Given the description of an element on the screen output the (x, y) to click on. 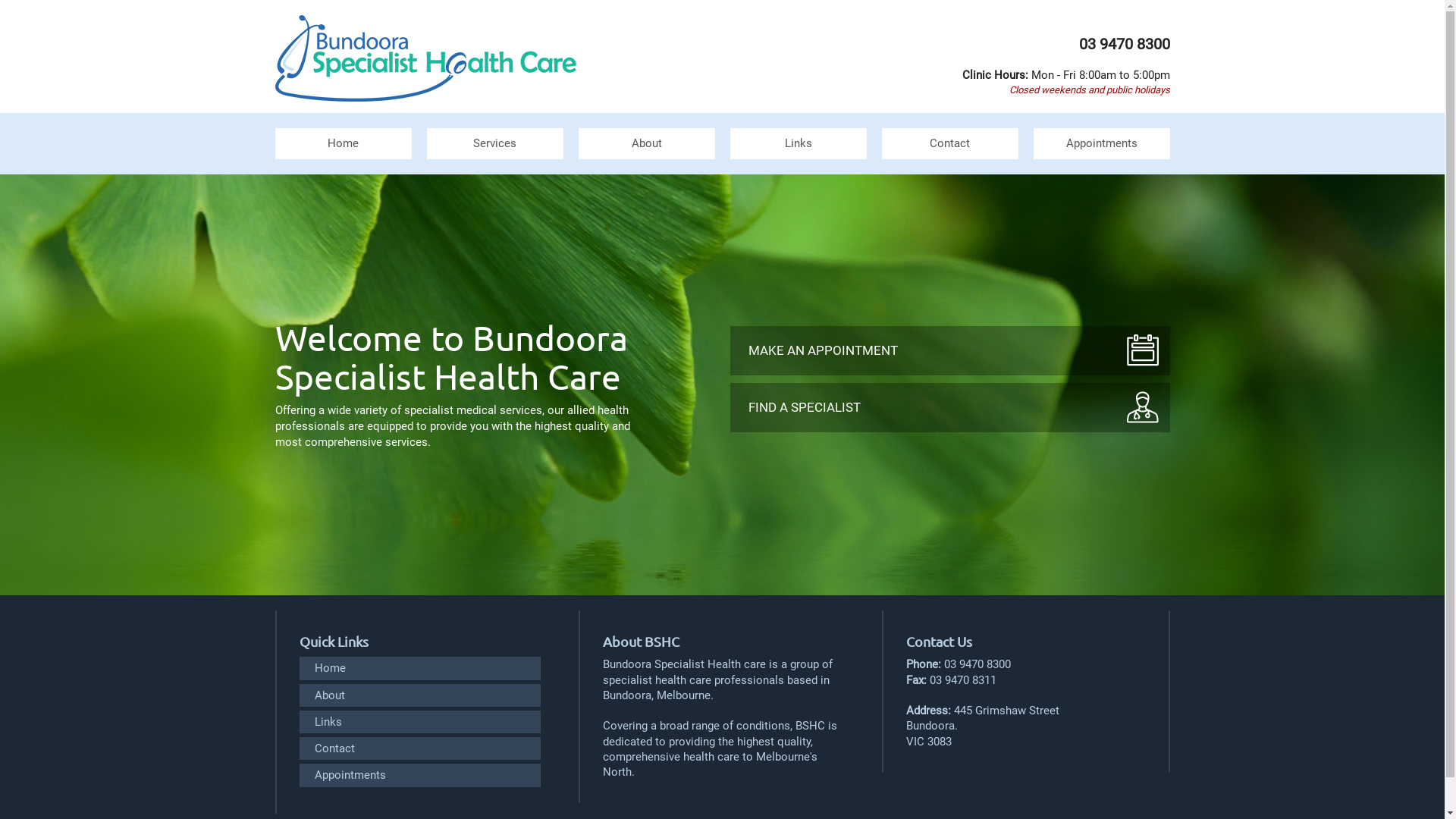
Home Element type: text (418, 667)
About Element type: text (645, 143)
Links Element type: text (418, 721)
Contact Element type: text (418, 748)
Contact Element type: text (949, 143)
Home Element type: text (342, 143)
Services Element type: text (494, 143)
About Element type: text (418, 695)
Appointments Element type: text (1100, 143)
Links Element type: text (797, 143)
FIND A SPECIALIST Element type: text (949, 407)
MAKE AN APPOINTMENT Element type: text (949, 350)
Appointments Element type: text (418, 774)
